Given the description of an element on the screen output the (x, y) to click on. 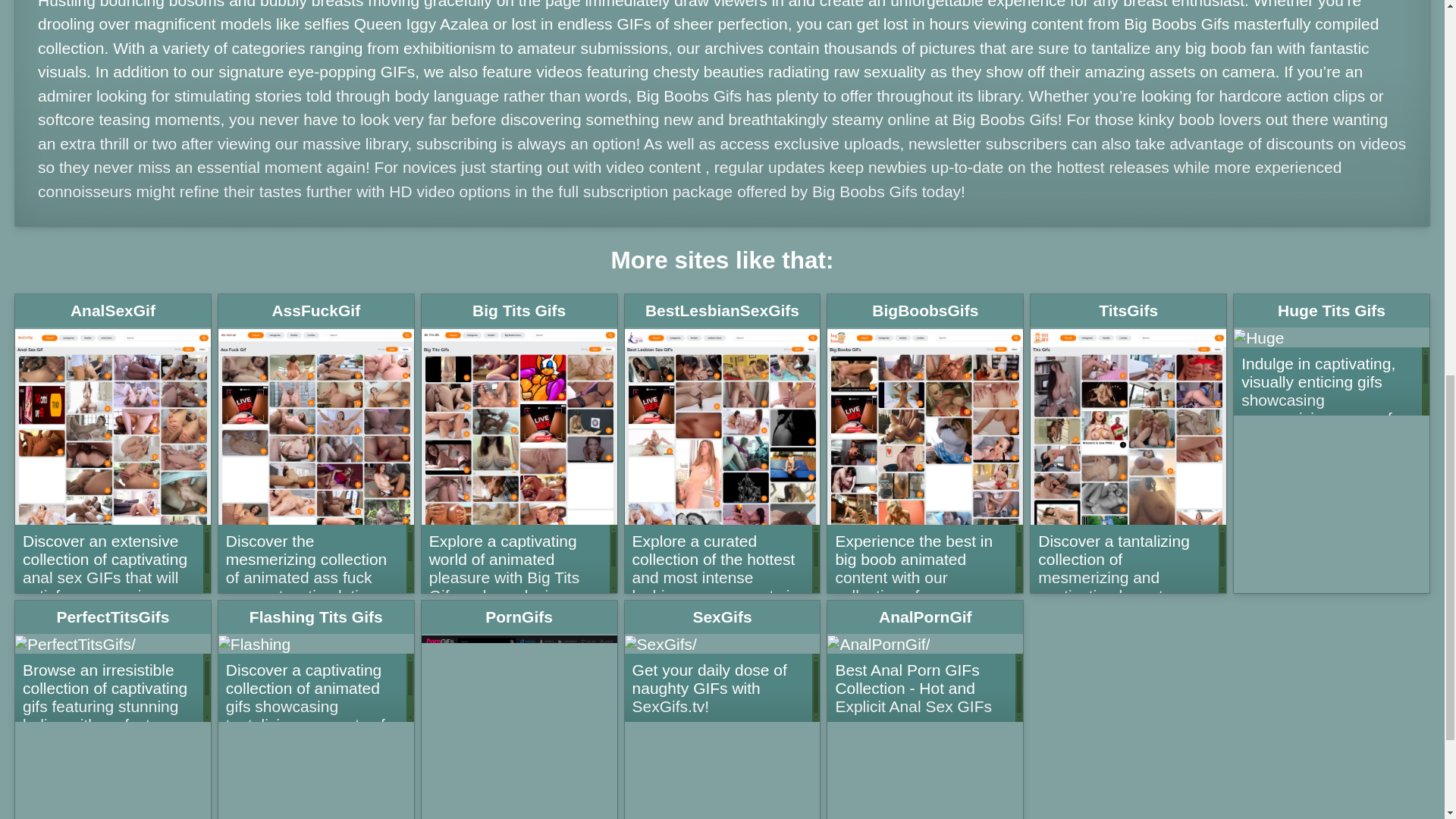
SexGifs (722, 616)
Flashing Tits Gifs (315, 616)
Huge Tits Gifs (1332, 310)
PerfectTitsGifs (112, 616)
TitsGifs (1128, 310)
BigBoobsGifs (925, 310)
Big Tits Gifs (518, 310)
PornGifs (518, 616)
AssFuckGif (314, 310)
BestLesbianSexGifs (722, 310)
